Given the description of an element on the screen output the (x, y) to click on. 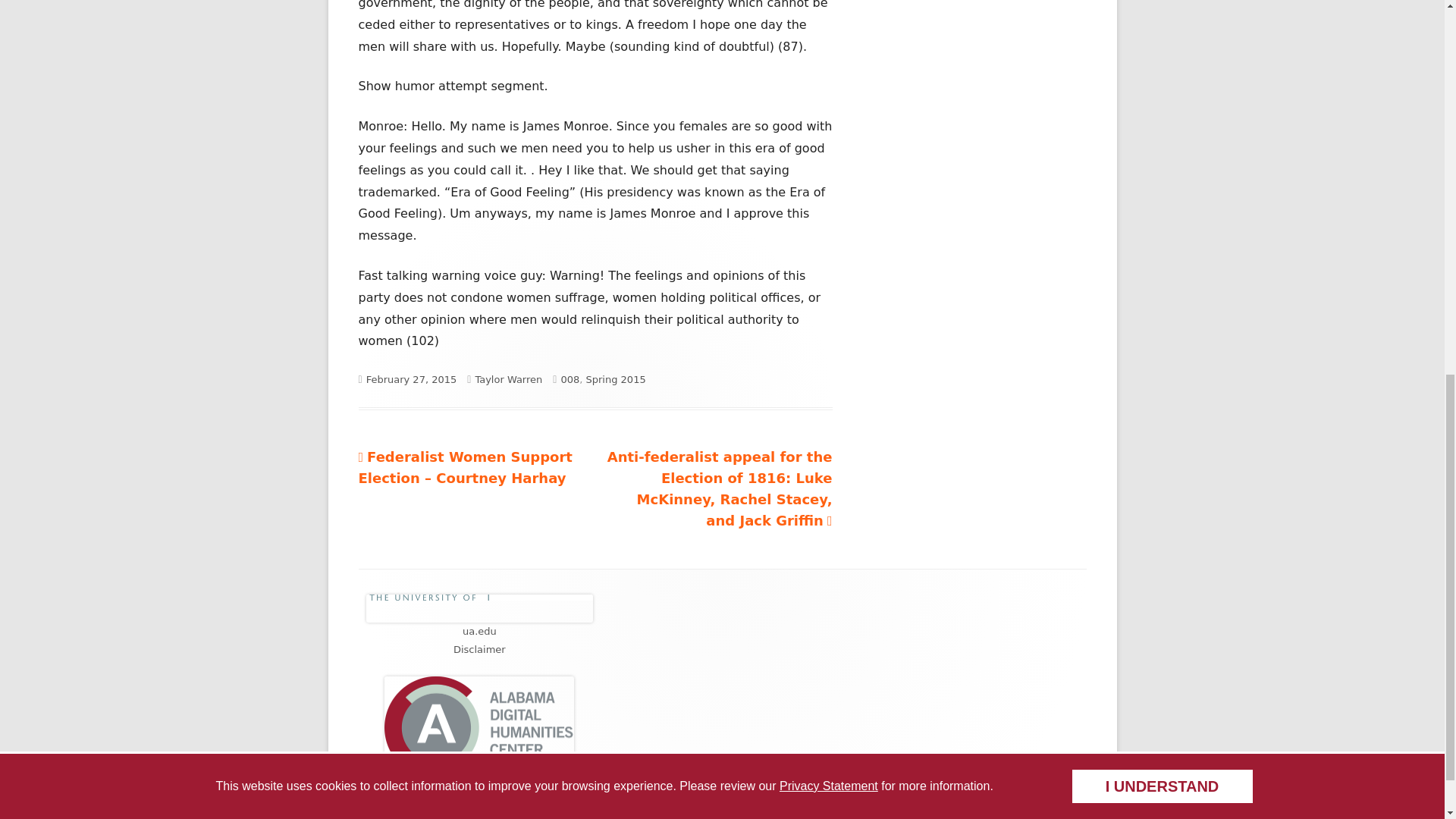
ua.edu (479, 631)
Taylor Warren (507, 378)
008 (569, 378)
I UNDERSTAND (1161, 53)
Spring 2015 (616, 378)
Privacy Statement (827, 52)
Disclaimer (478, 649)
Log in (475, 807)
February 27, 2015 (411, 378)
Tiny Framework (416, 807)
Alabama Digital Humanities Center (480, 772)
